Given the description of an element on the screen output the (x, y) to click on. 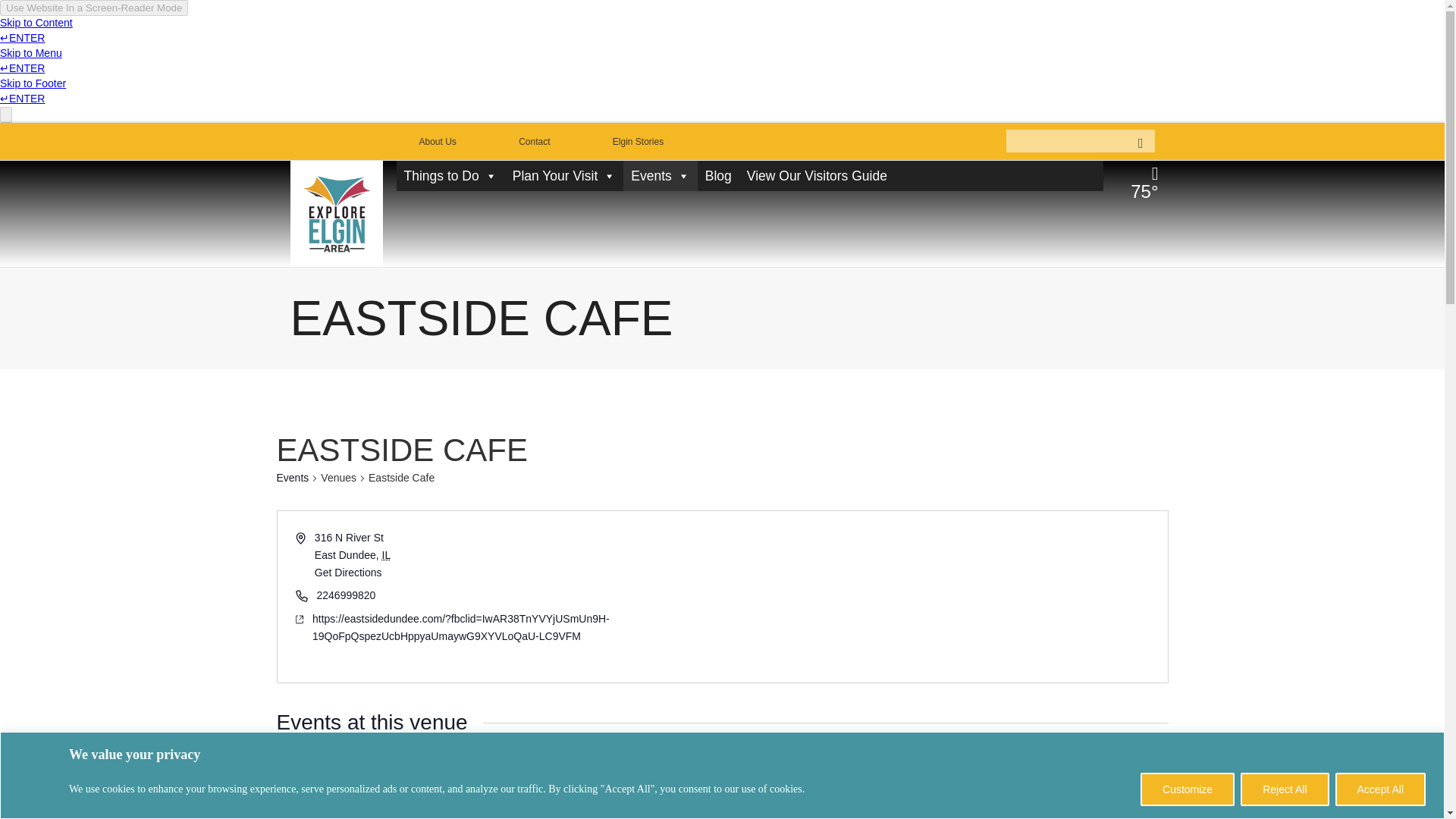
Click to toggle datepicker (430, 777)
Click to select today's date (339, 777)
Reject All (1283, 788)
Customize (1187, 788)
Google maps iframe displaying the address to Eastside Cafe (944, 596)
scattered clouds (1140, 182)
Accept All (1380, 788)
